Given the description of an element on the screen output the (x, y) to click on. 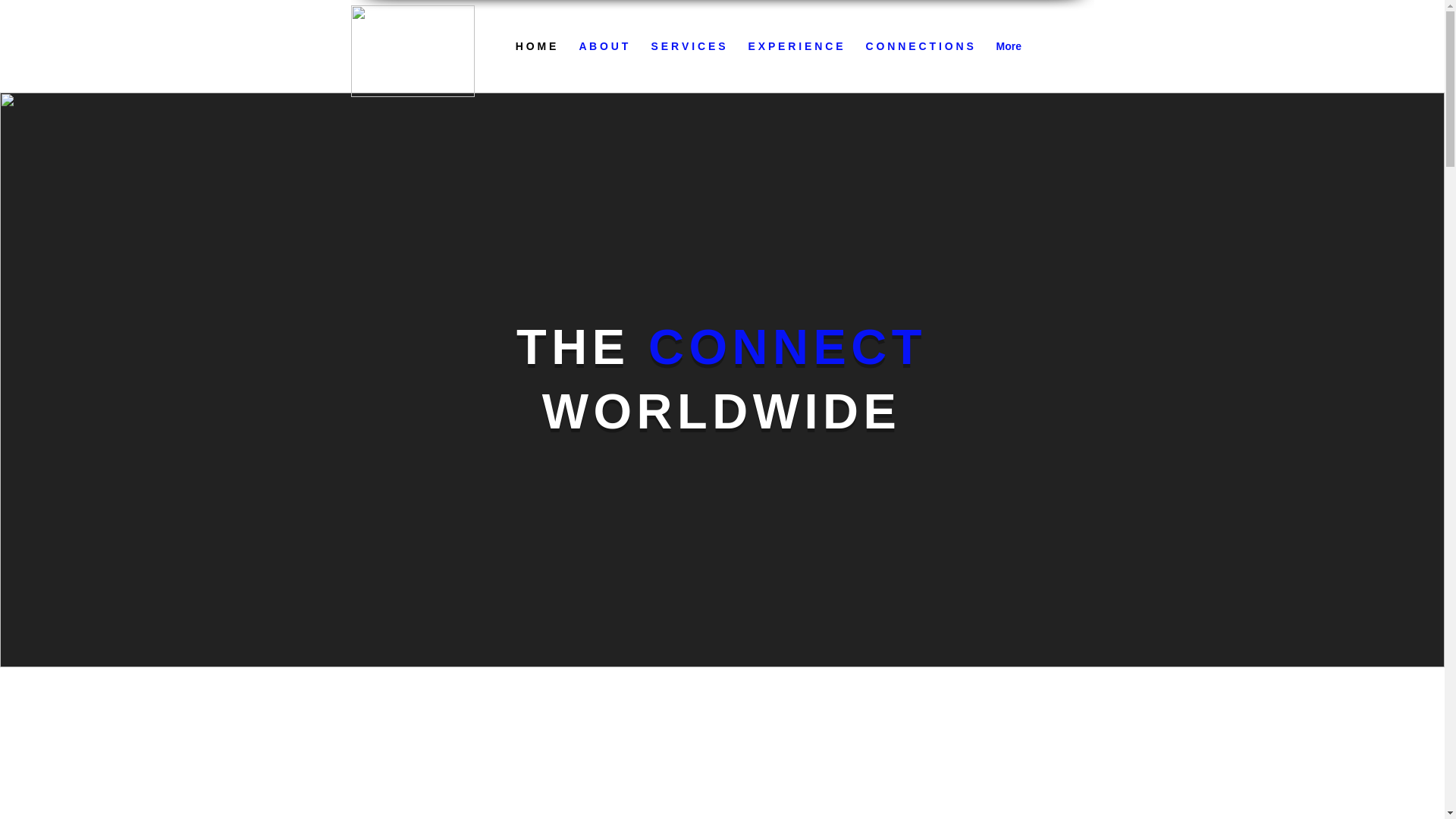
E X P E R I E N C E (795, 45)
A B O U T (603, 45)
H O M E (535, 45)
C O N N E C T I O N S (918, 45)
S E R V I C E S (688, 45)
